Given the description of an element on the screen output the (x, y) to click on. 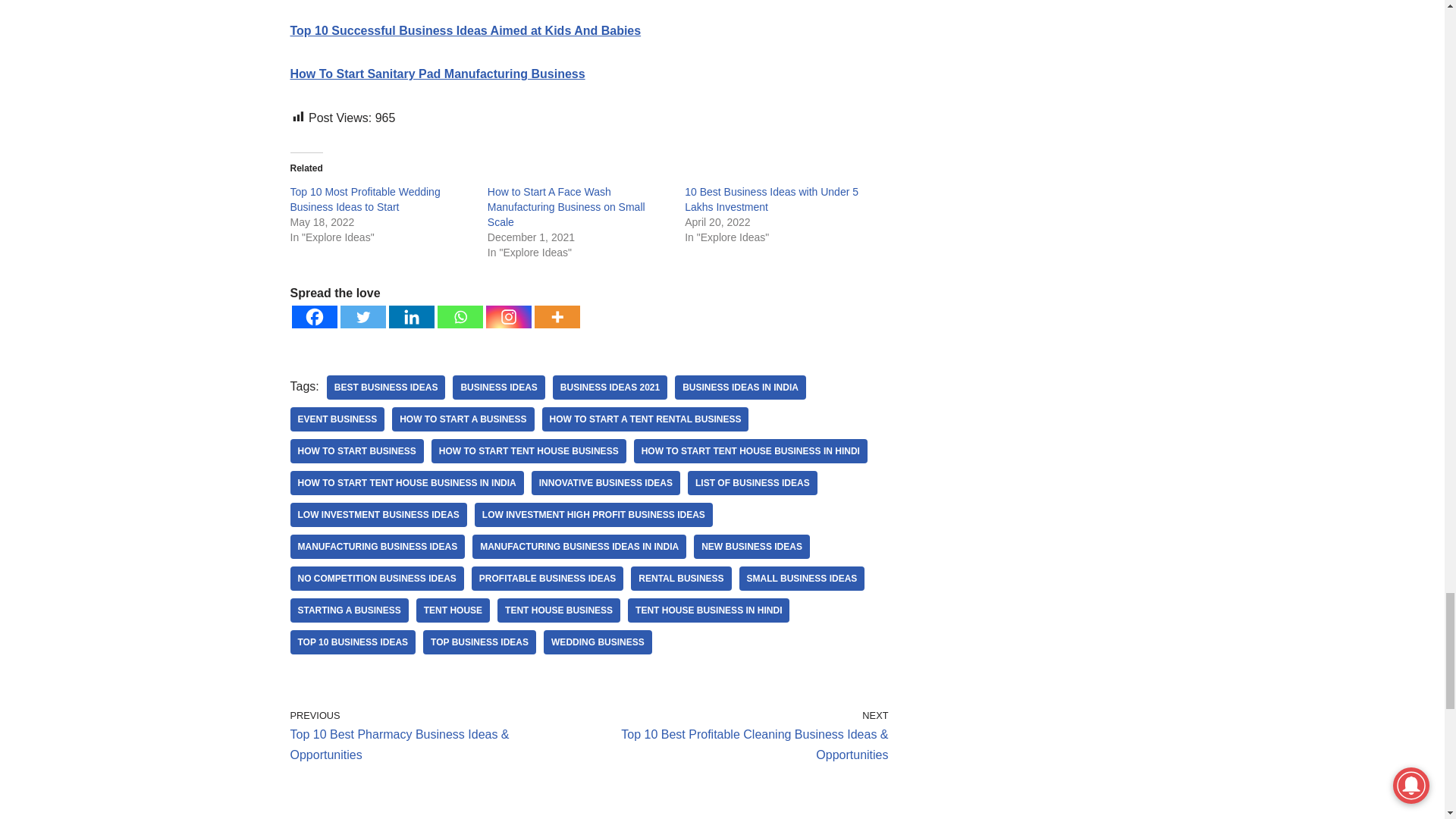
How To Start Sanitary Pad Manufacturing Business (437, 73)
Top 10 Successful Business Ideas Aimed at Kids And Babies (464, 30)
10 Best Business Ideas with Under 5 Lakhs Investment (771, 198)
Top 10 Most Profitable Wedding Business Ideas to Start (364, 198)
